Given the description of an element on the screen output the (x, y) to click on. 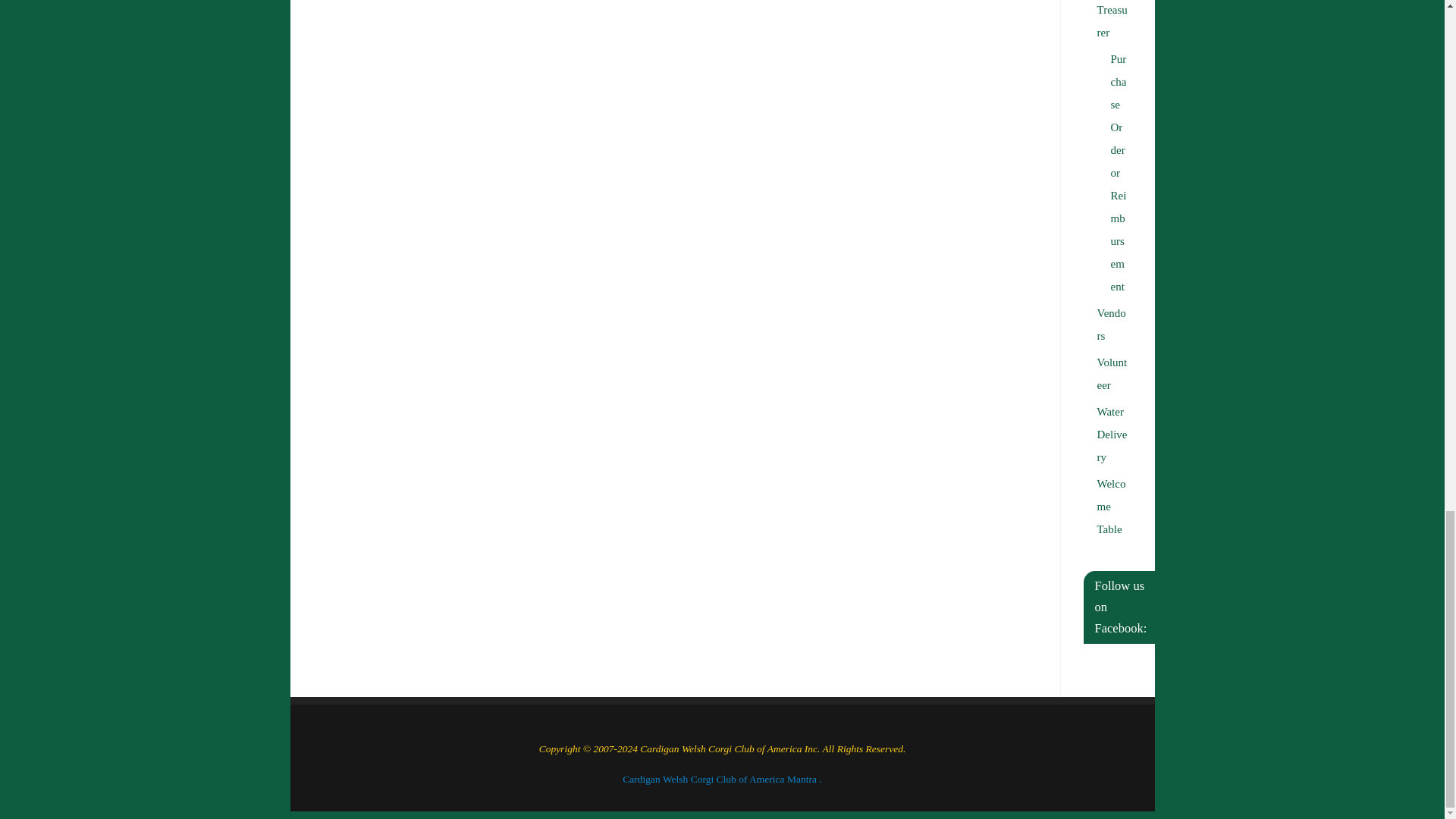
Mantra Theme by Cryout Creations (801, 778)
Mantra (801, 778)
Cardigan Welsh Corgi Club of America (703, 778)
Cardigan Welsh Corgi Club of America (703, 778)
